Given the description of an element on the screen output the (x, y) to click on. 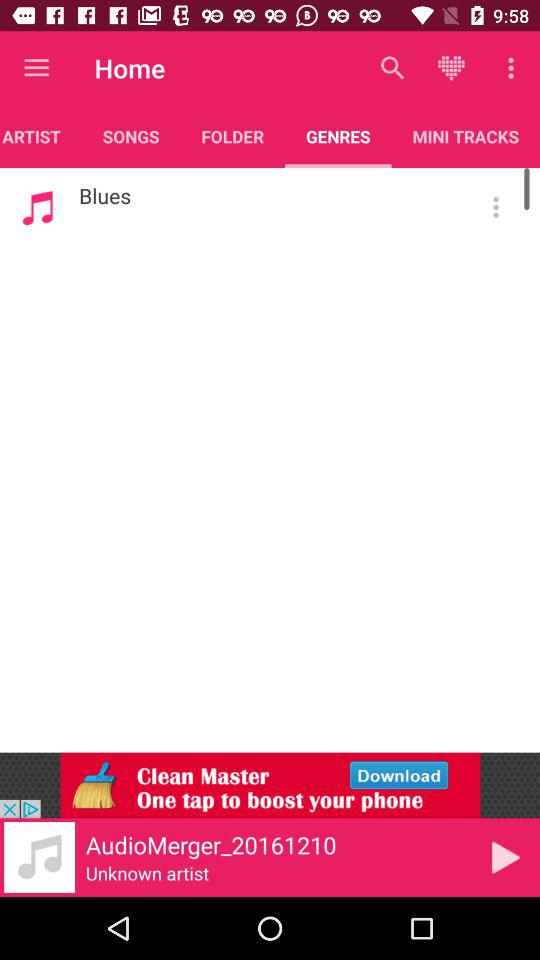
select the blues option (495, 207)
